Given the description of an element on the screen output the (x, y) to click on. 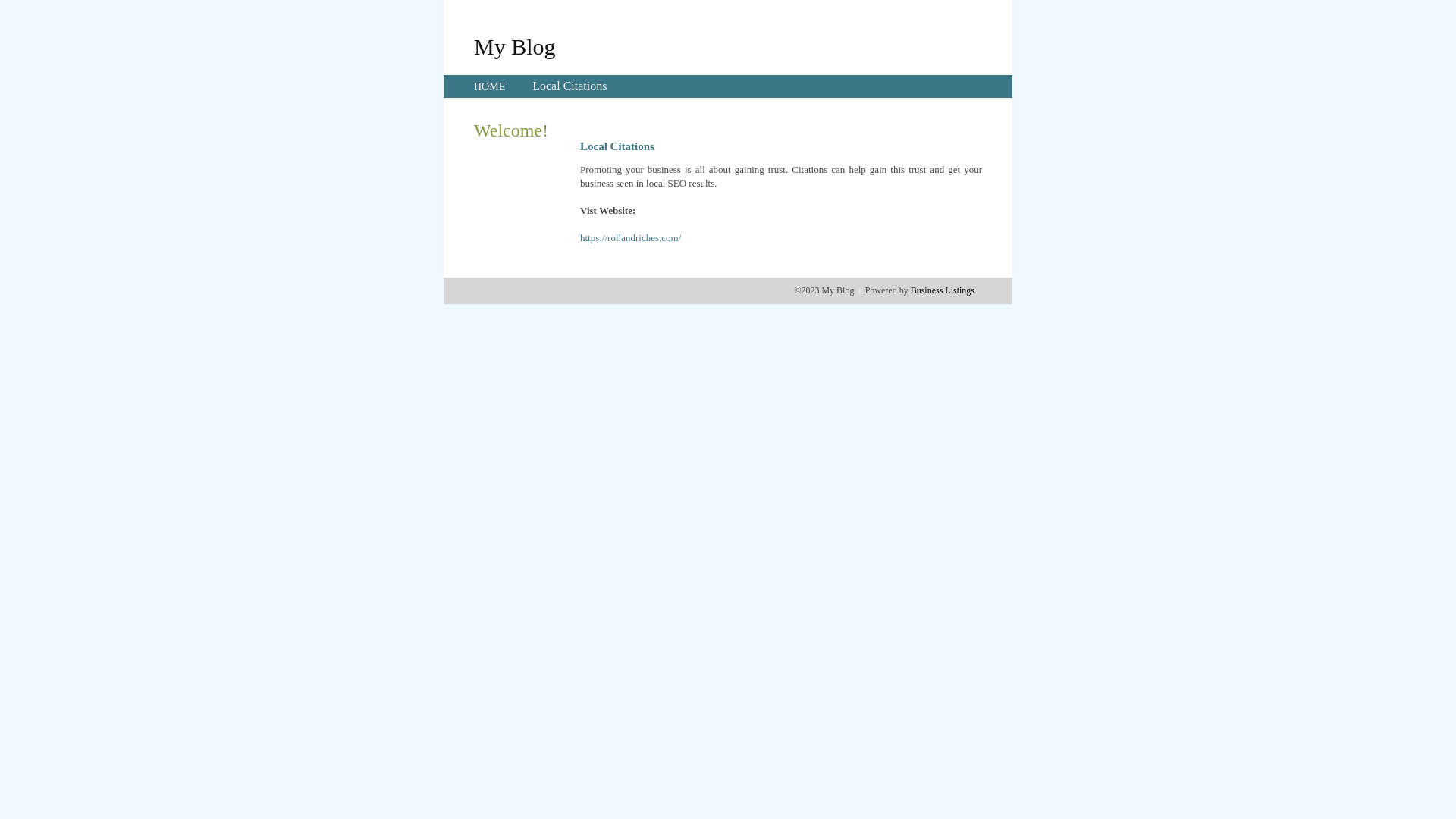
Local Citations Element type: text (569, 85)
https://rollandriches.com/ Element type: text (630, 237)
Business Listings Element type: text (942, 290)
My Blog Element type: text (514, 46)
HOME Element type: text (489, 86)
